Given the description of an element on the screen output the (x, y) to click on. 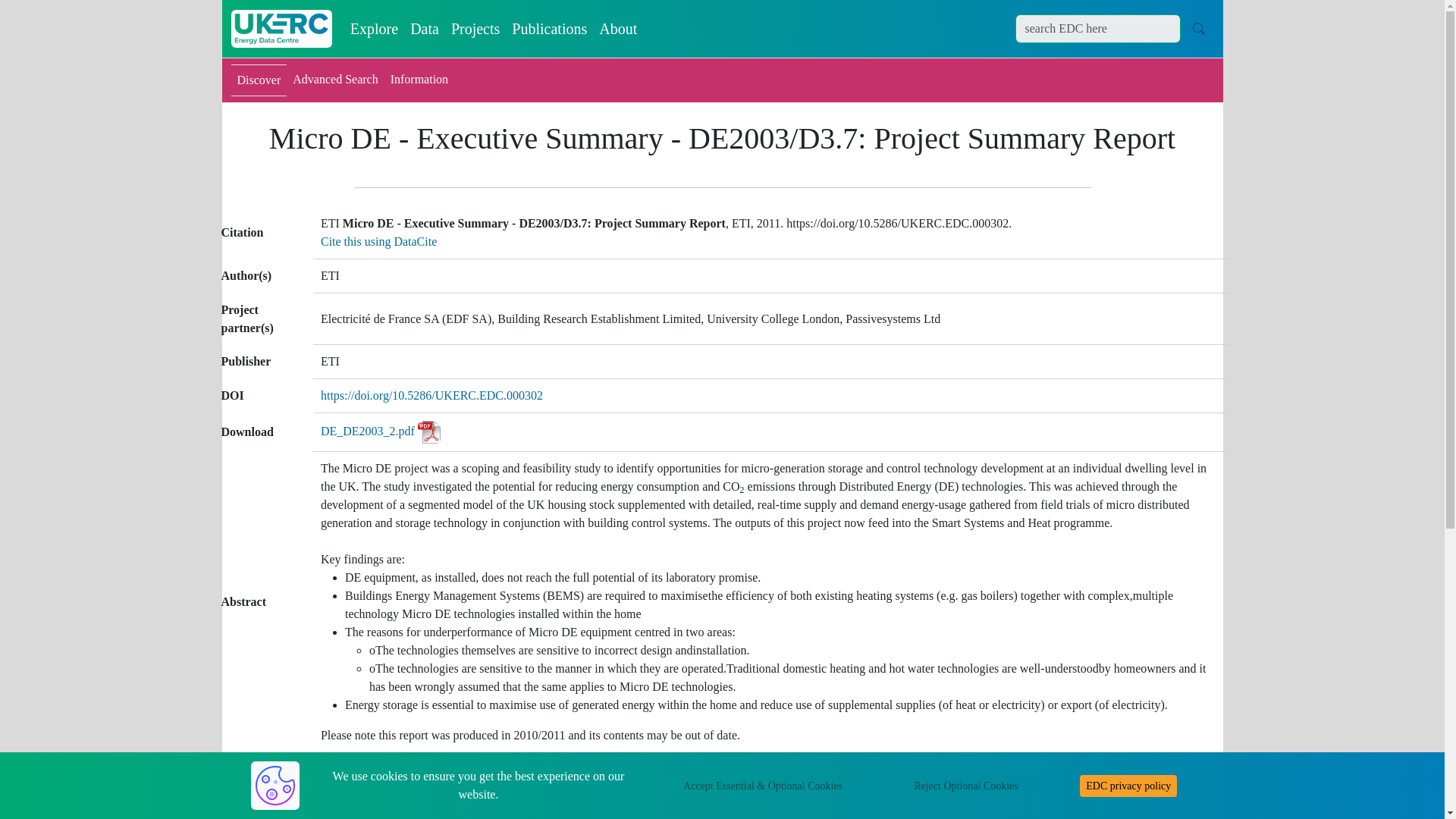
Go (1198, 27)
Information (419, 80)
About (617, 28)
Publications (548, 28)
Data (424, 28)
Advanced Search (335, 80)
ETI-DE2003: Micro Distributed Energy (417, 778)
Reject Optional Cookies (966, 785)
scroll for more (1374, 788)
Explore (373, 28)
